Given the description of an element on the screen output the (x, y) to click on. 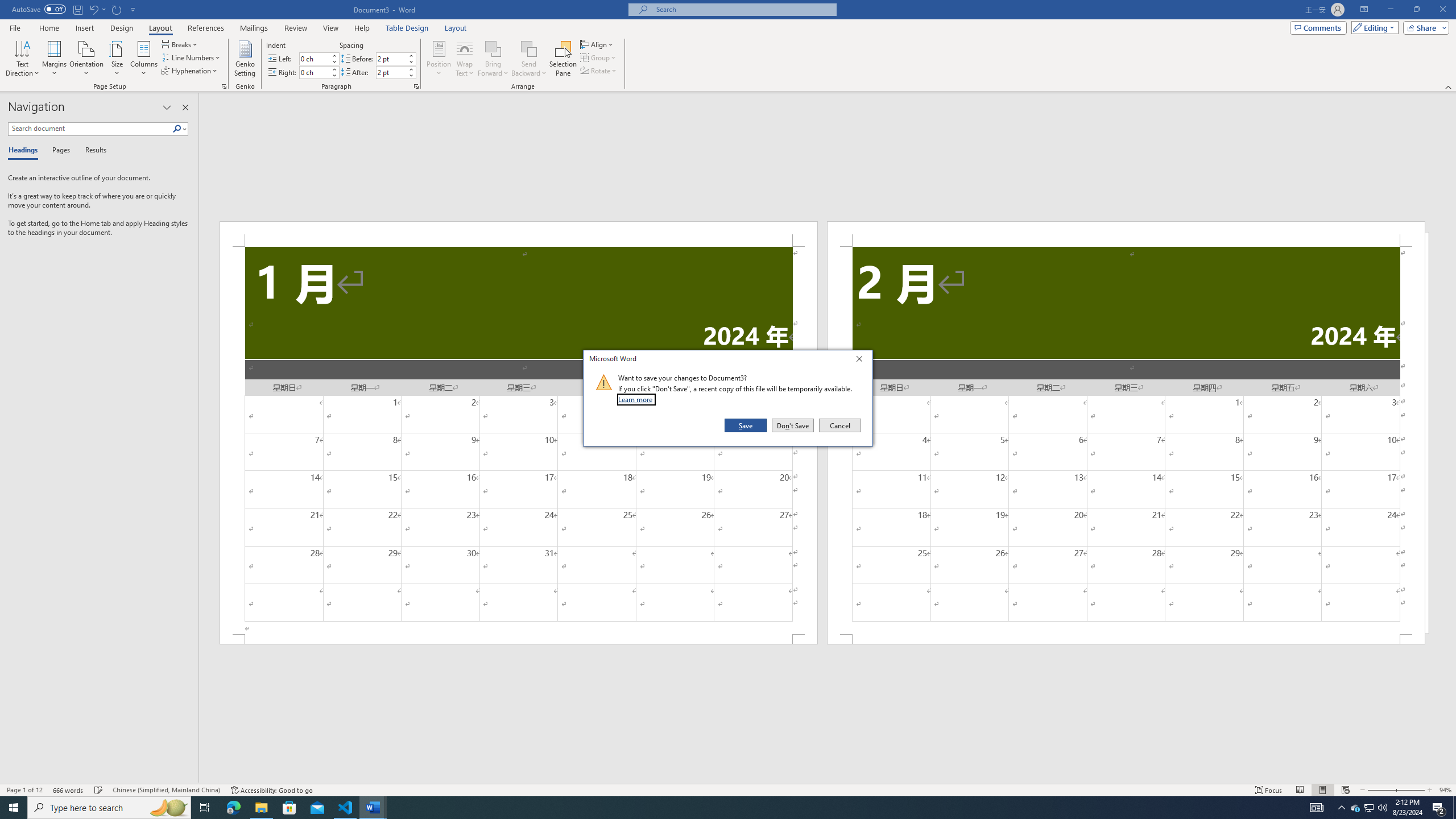
Show desktop (1454, 807)
Footer -Section 1- (518, 638)
Search document (89, 128)
Cancel (839, 425)
Group (599, 56)
Q2790: 100% (1382, 807)
Indent Left (314, 58)
Undo Increase Indent (92, 9)
Rotate (599, 69)
Table Design (407, 28)
